Given the description of an element on the screen output the (x, y) to click on. 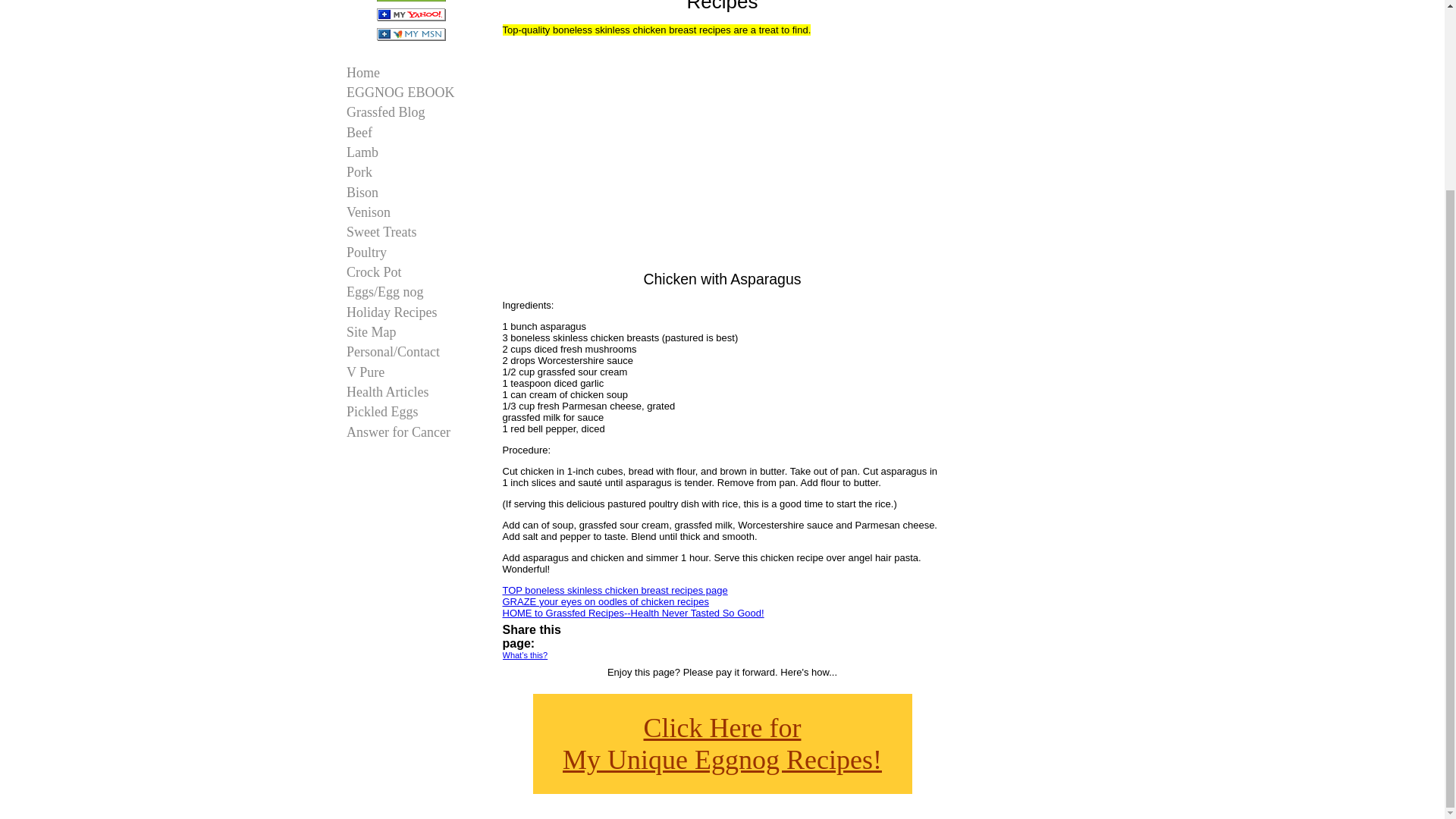
Answer for Cancer (411, 432)
Pork (722, 743)
Health Articles (411, 172)
Grassfed Blog (411, 392)
EGGNOG EBOOK (411, 113)
Site Map (411, 92)
Crock Pot (411, 332)
V Pure (411, 271)
Home (411, 372)
